Given the description of an element on the screen output the (x, y) to click on. 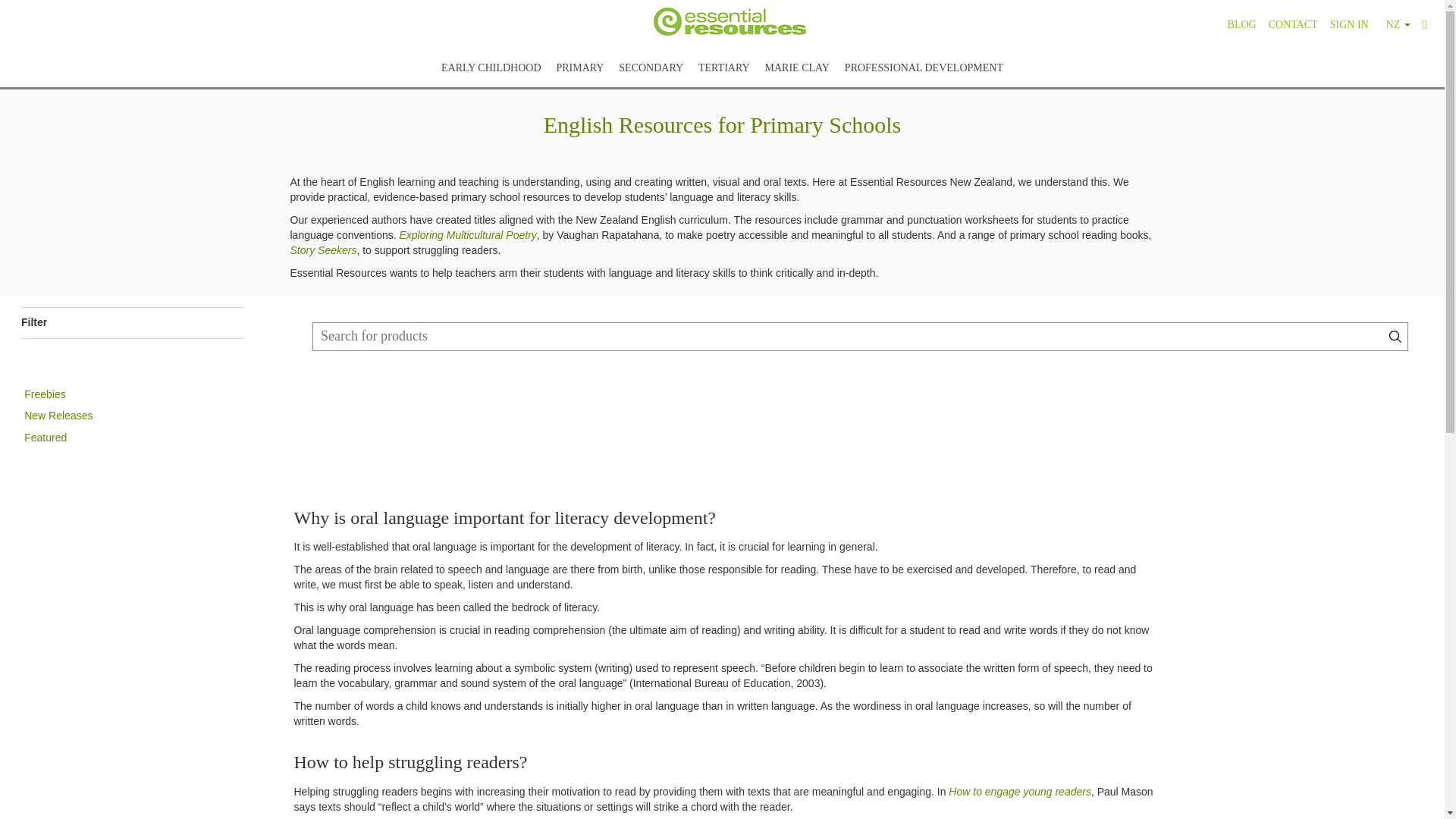
CONTACT (1292, 20)
Featured (45, 437)
NZ (1395, 20)
MARIE CLAY (796, 64)
SIGN IN (1348, 20)
BLOG (1241, 20)
How to engage young readers (1019, 791)
Story Seekers (322, 250)
New Releases (58, 415)
Freebies (44, 394)
